Given the description of an element on the screen output the (x, y) to click on. 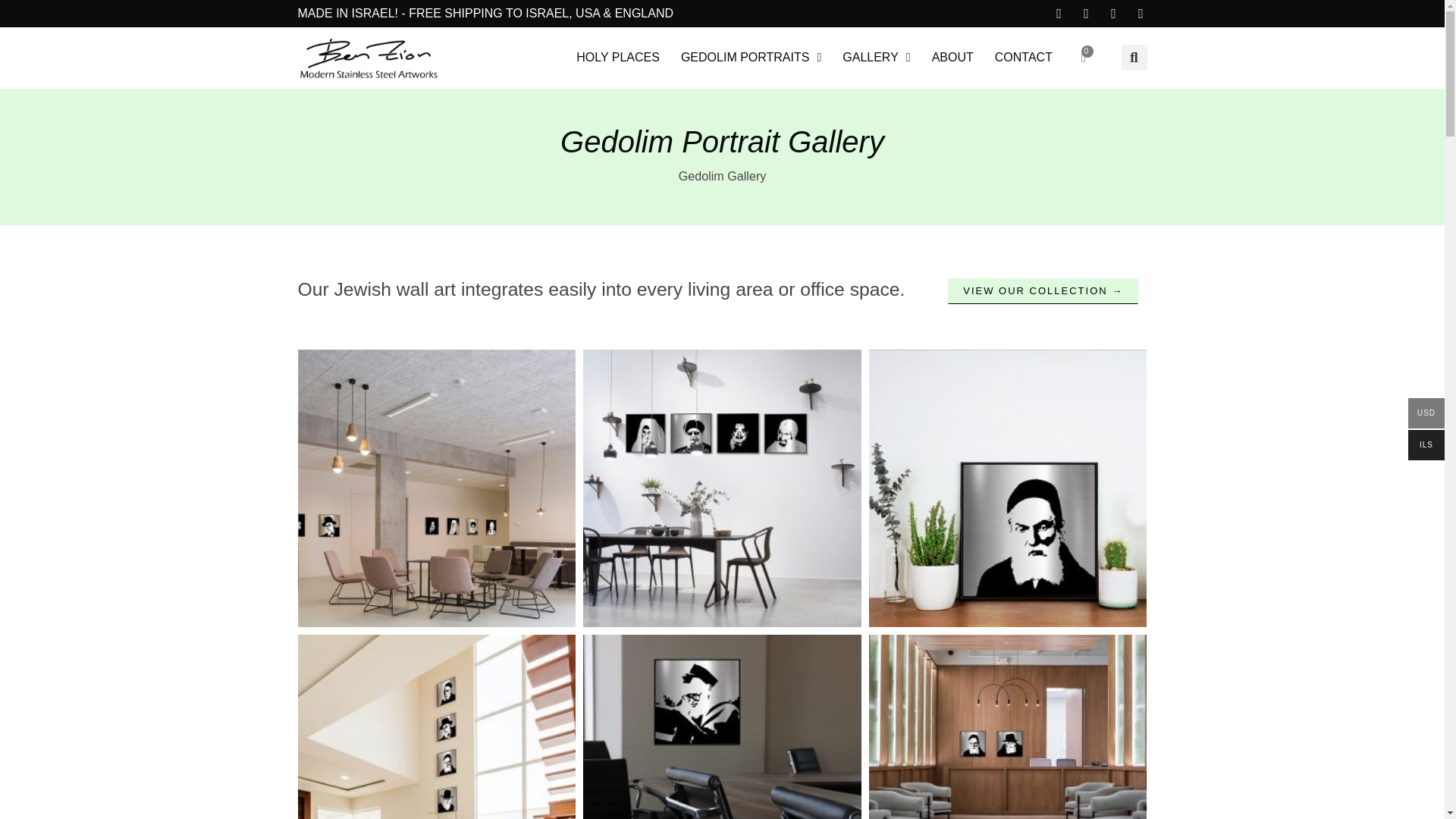
ABOUT (952, 57)
CONTACT (1023, 57)
HOLY PLACES (617, 57)
0 (1084, 57)
GEDOLIM PORTRAITS (750, 57)
GALLERY (875, 57)
